Given the description of an element on the screen output the (x, y) to click on. 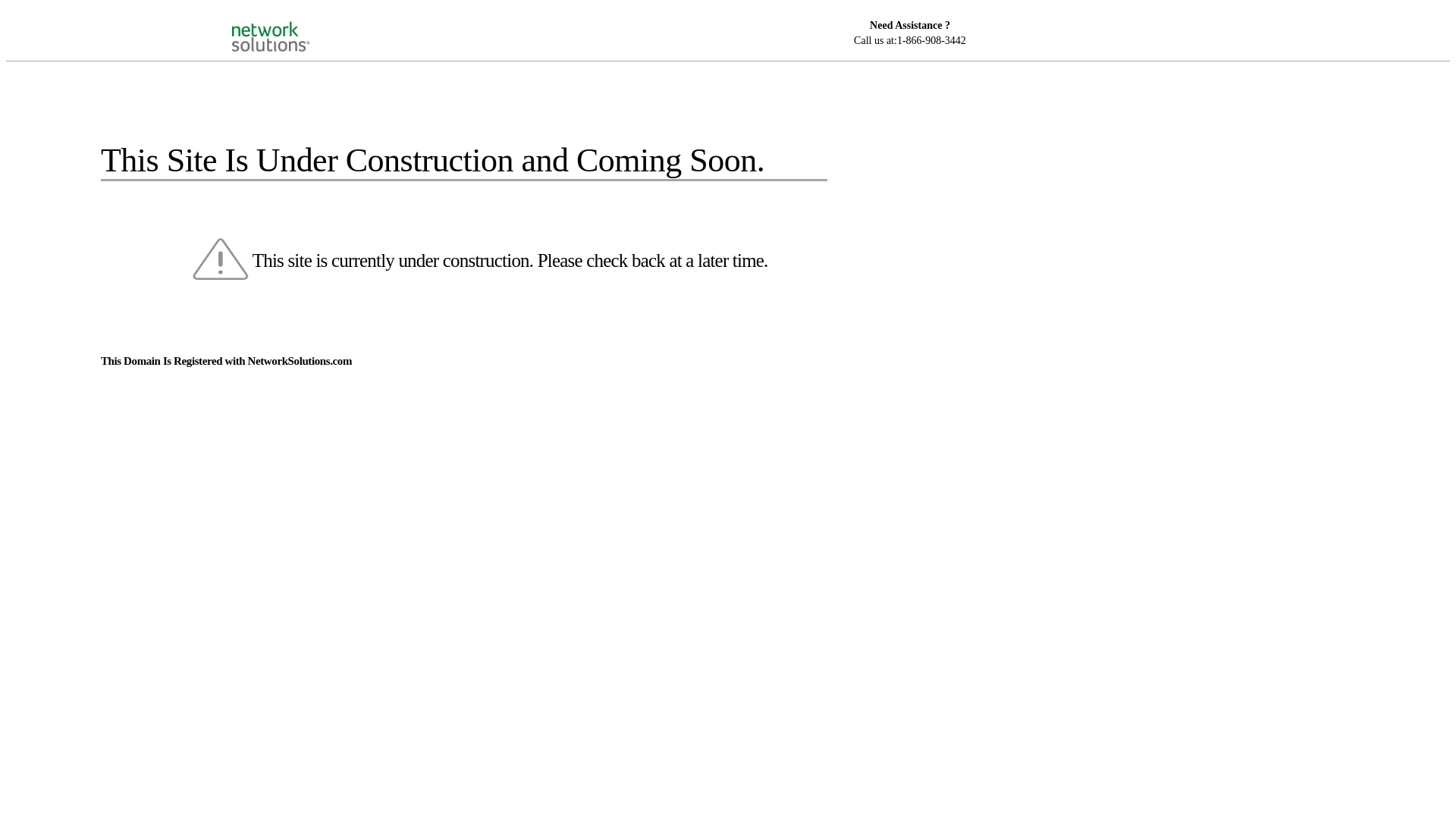
NetworkSolutions.com Home Element type: hover (289, 23)
